Given the description of an element on the screen output the (x, y) to click on. 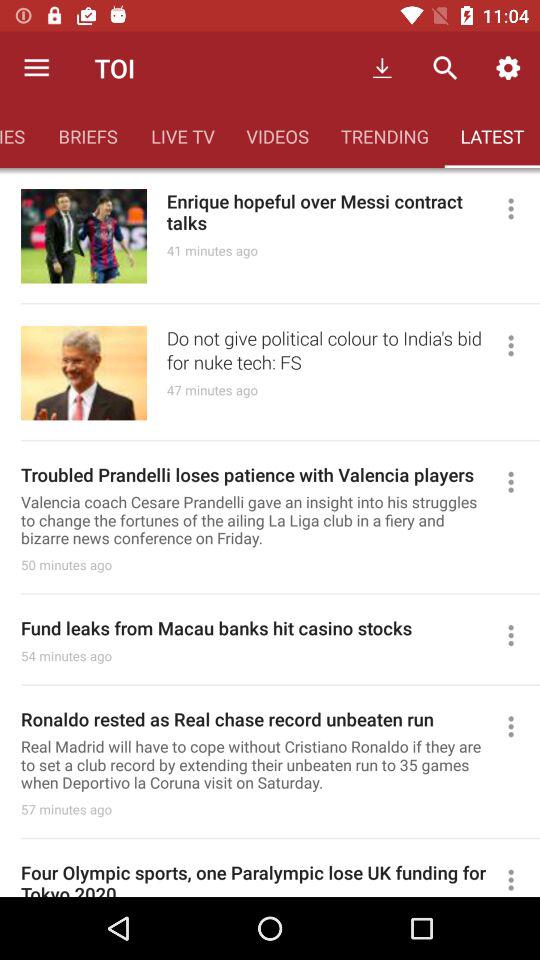
hide or share the article (519, 208)
